Given the description of an element on the screen output the (x, y) to click on. 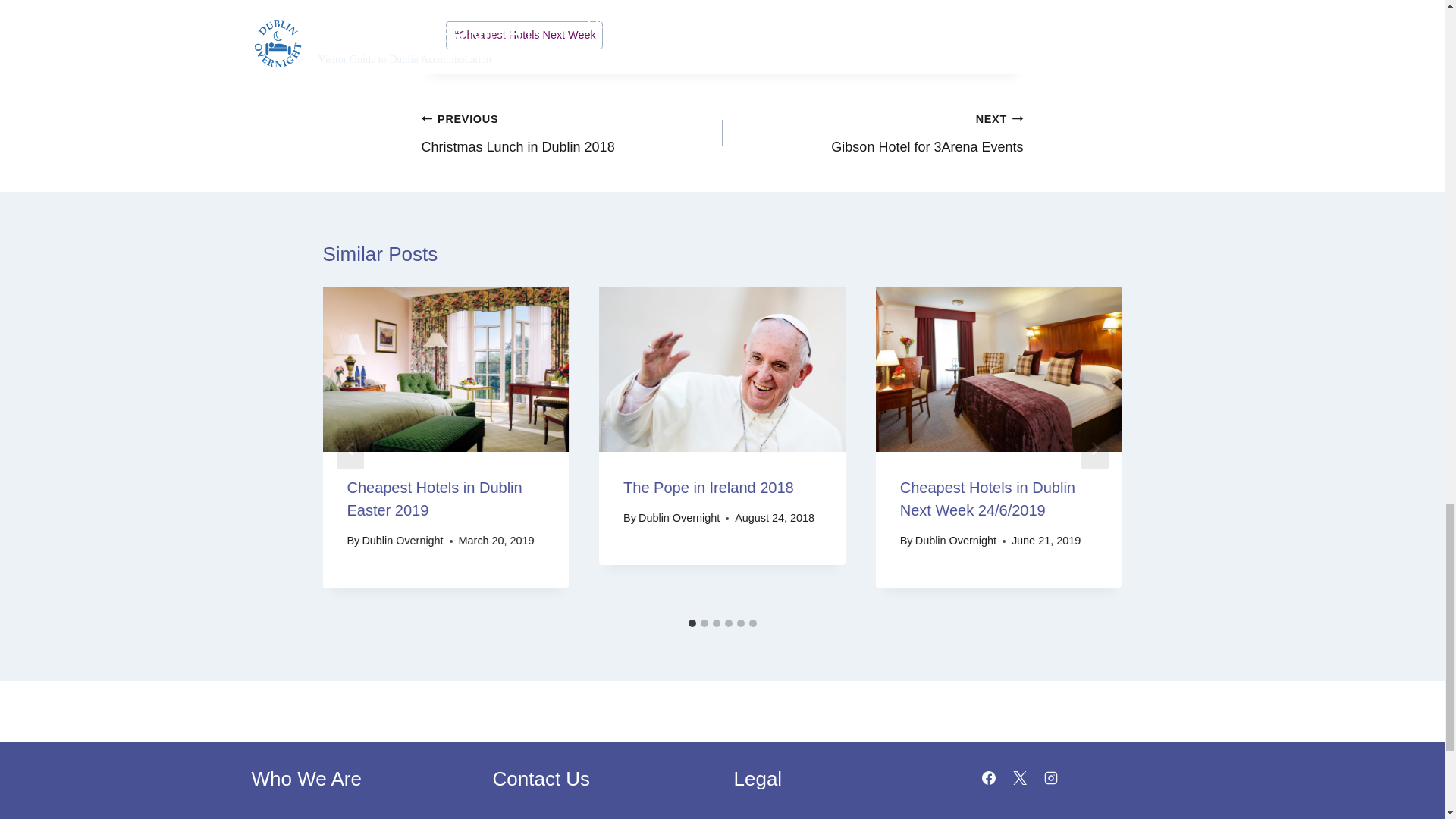
Cheapest Hotels Next Week (872, 132)
